Given the description of an element on the screen output the (x, y) to click on. 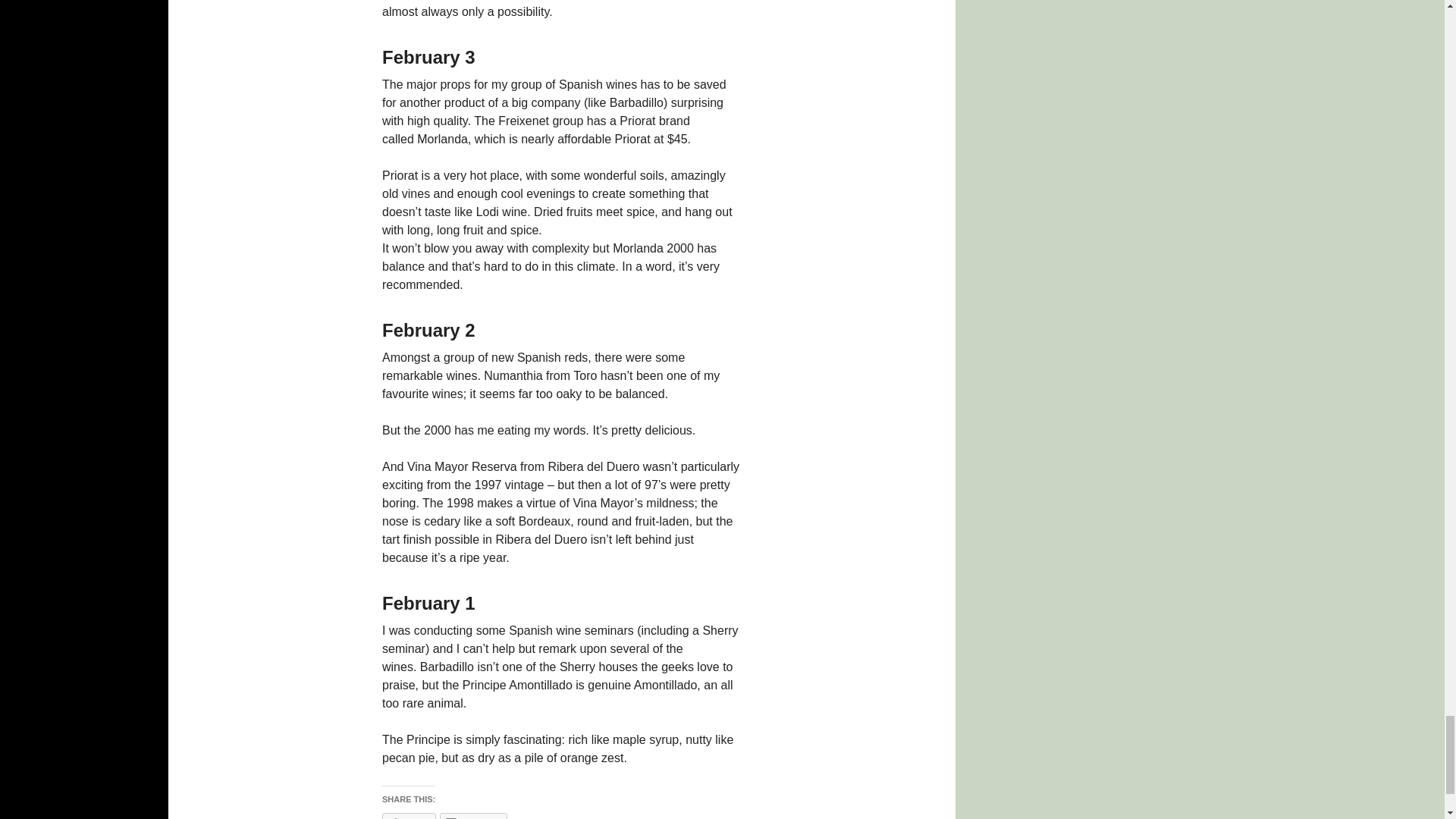
Facebook (472, 816)
Click to share on Twitter (408, 816)
Click to share on Facebook (472, 816)
Twitter (408, 816)
